Given the description of an element on the screen output the (x, y) to click on. 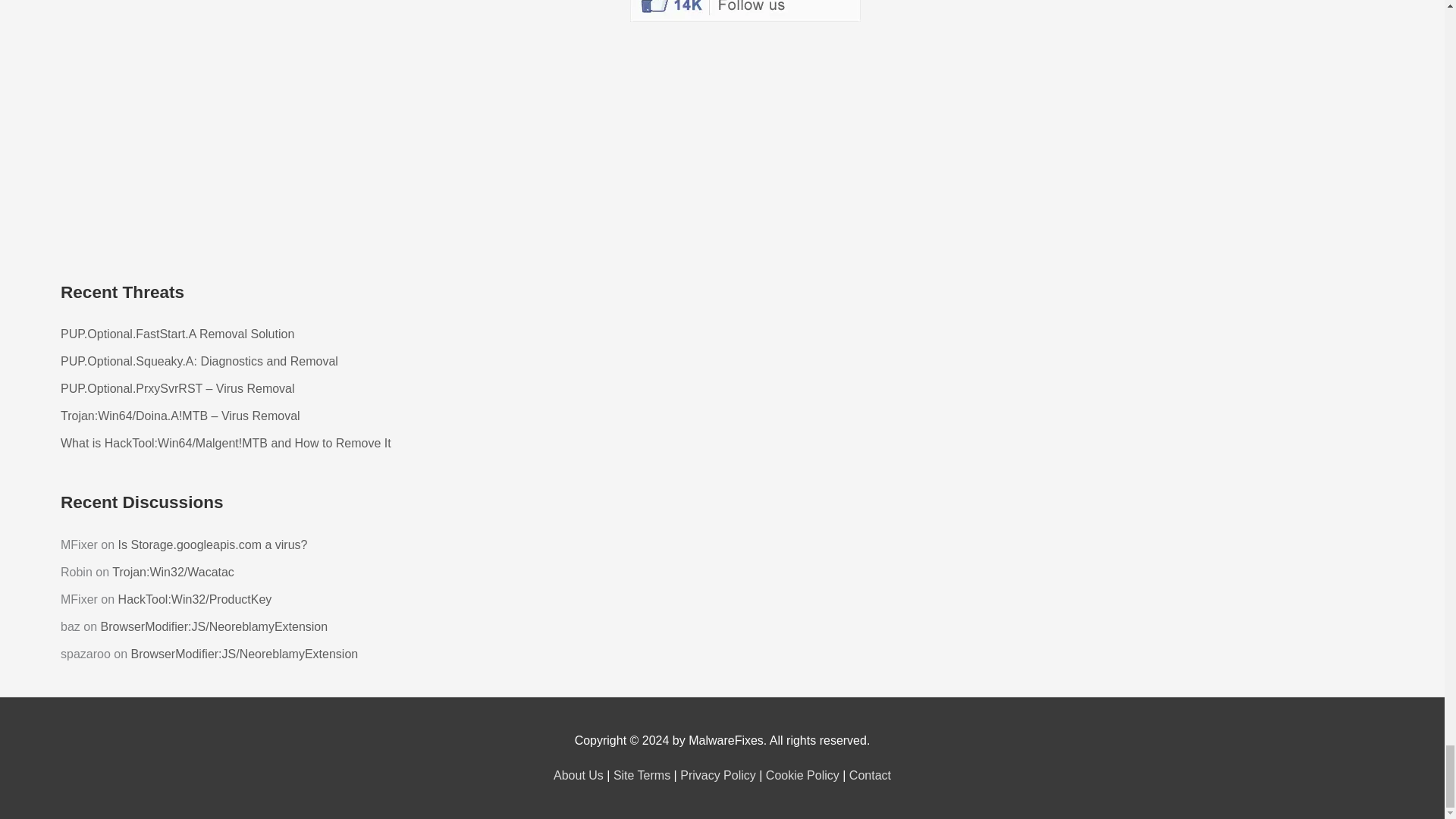
PUP.Optional.FastStart.A Removal Solution (177, 333)
PUP.Optional.Squeaky.A: Diagnostics and Removal (199, 360)
Is Storage.googleapis.com a virus? (212, 544)
